Given the description of an element on the screen output the (x, y) to click on. 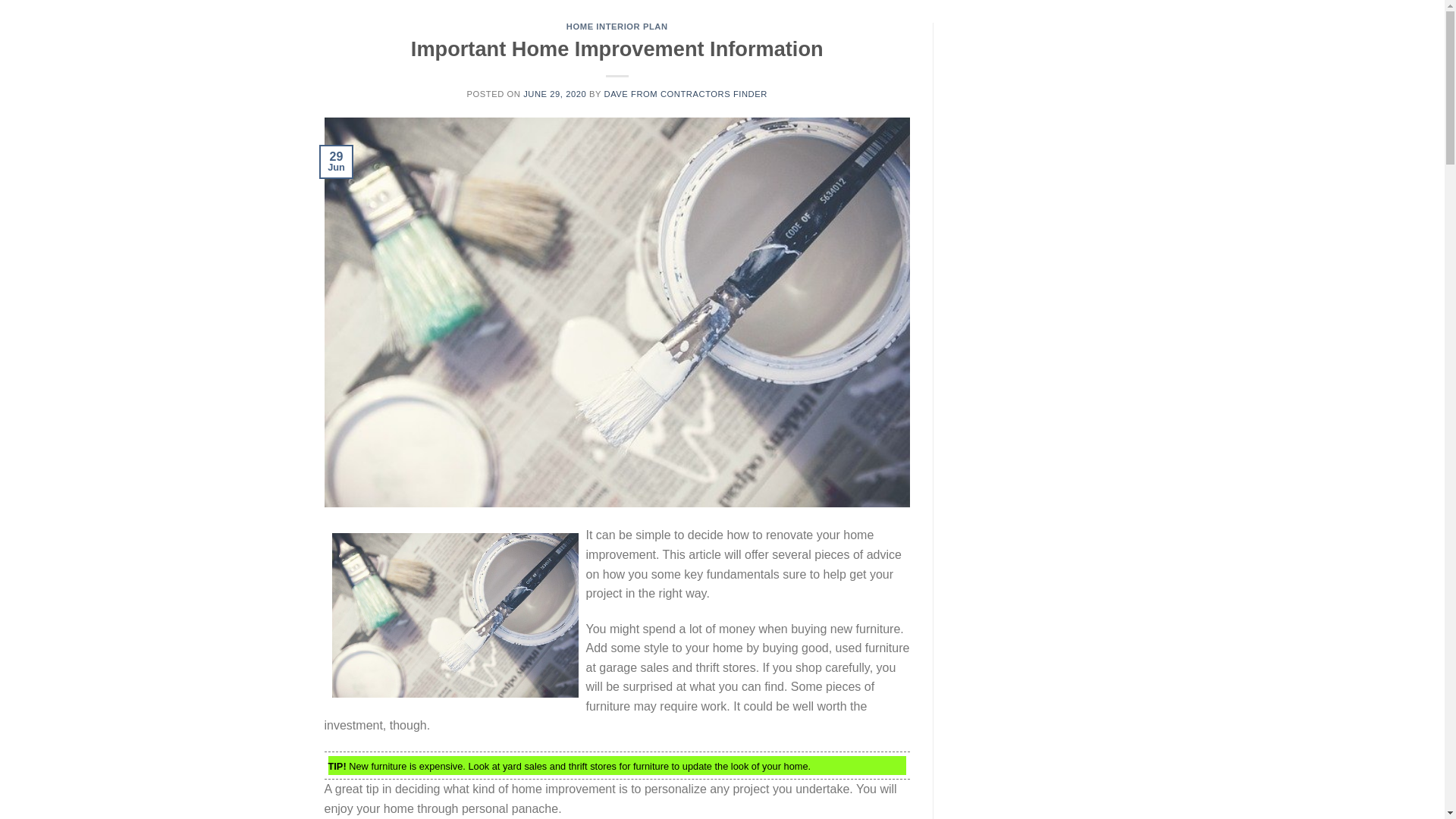
DAVE FROM CONTRACTORS FINDER (685, 93)
HOME INTERIOR PLAN (617, 26)
JUNE 29, 2020 (554, 93)
